Given the description of an element on the screen output the (x, y) to click on. 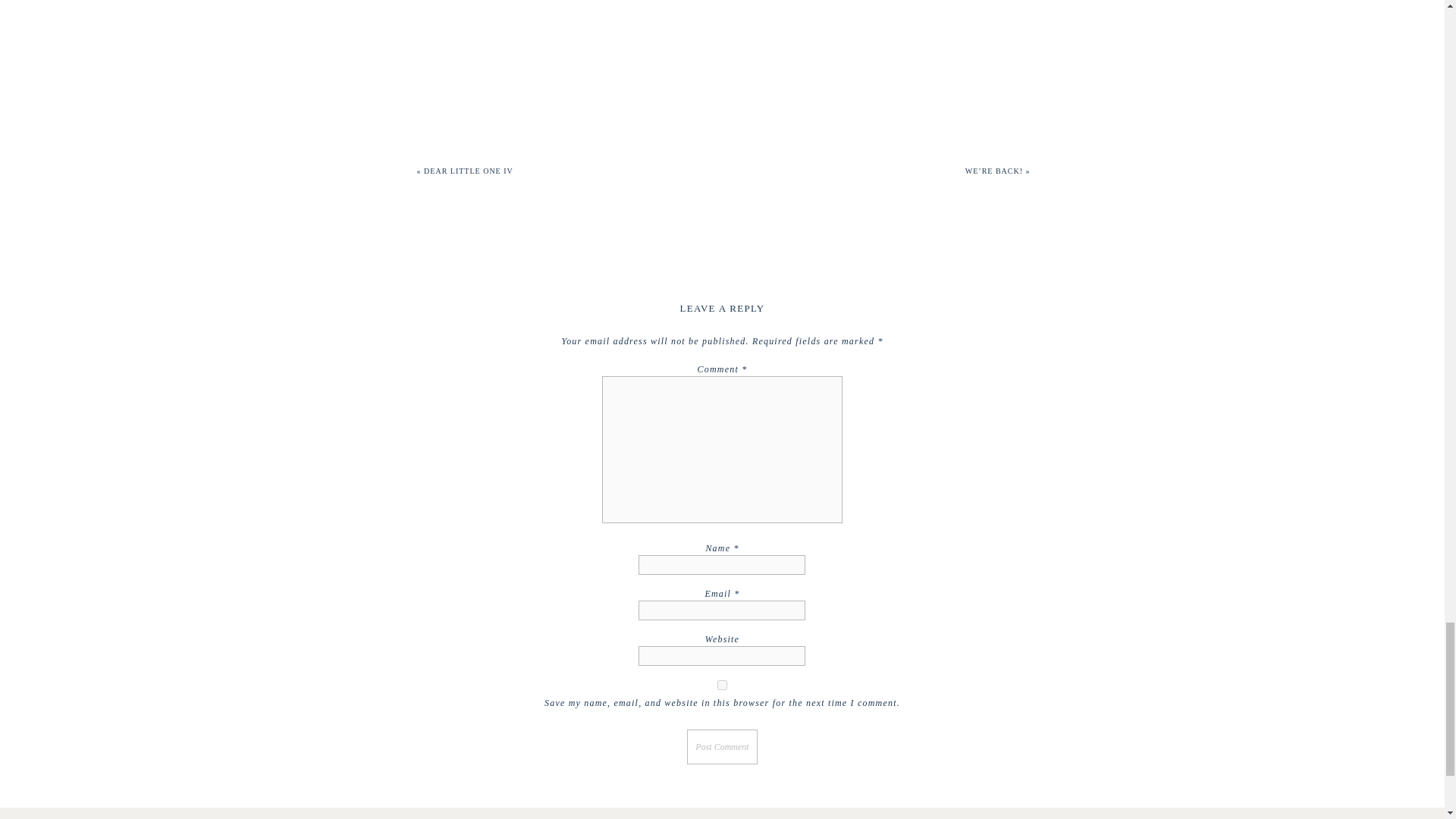
Post Comment (722, 746)
DEAR LITTLE ONE IV (468, 171)
Post Comment (722, 746)
yes (721, 685)
